Given the description of an element on the screen output the (x, y) to click on. 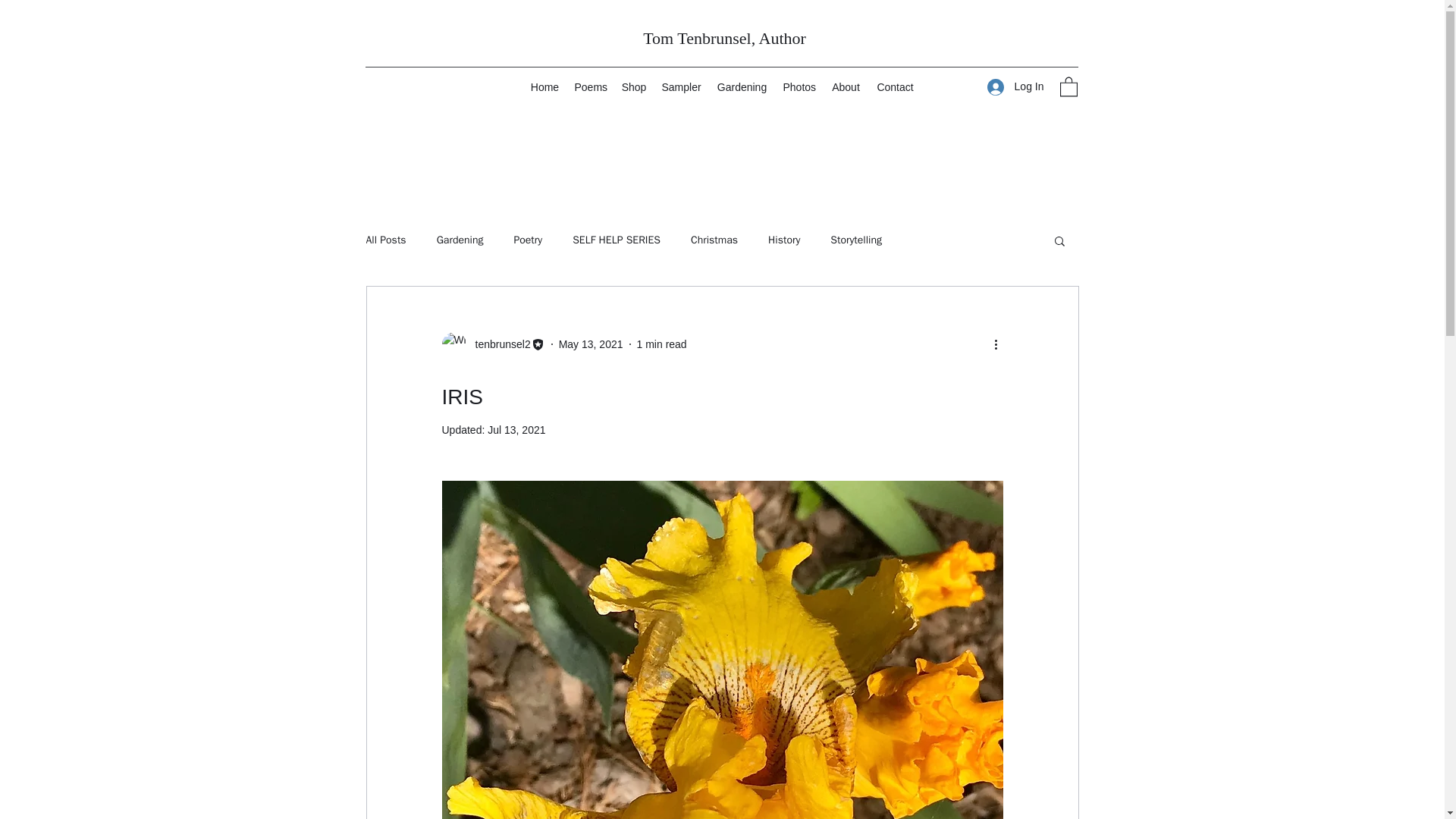
Sampler (680, 87)
Photos (798, 87)
Shop (633, 87)
All Posts (385, 240)
Log In (1015, 86)
Gardening (459, 240)
tenbrunsel2 (497, 344)
tenbrunsel2 (492, 344)
Storytelling (855, 240)
1 min read (662, 344)
